Given the description of an element on the screen output the (x, y) to click on. 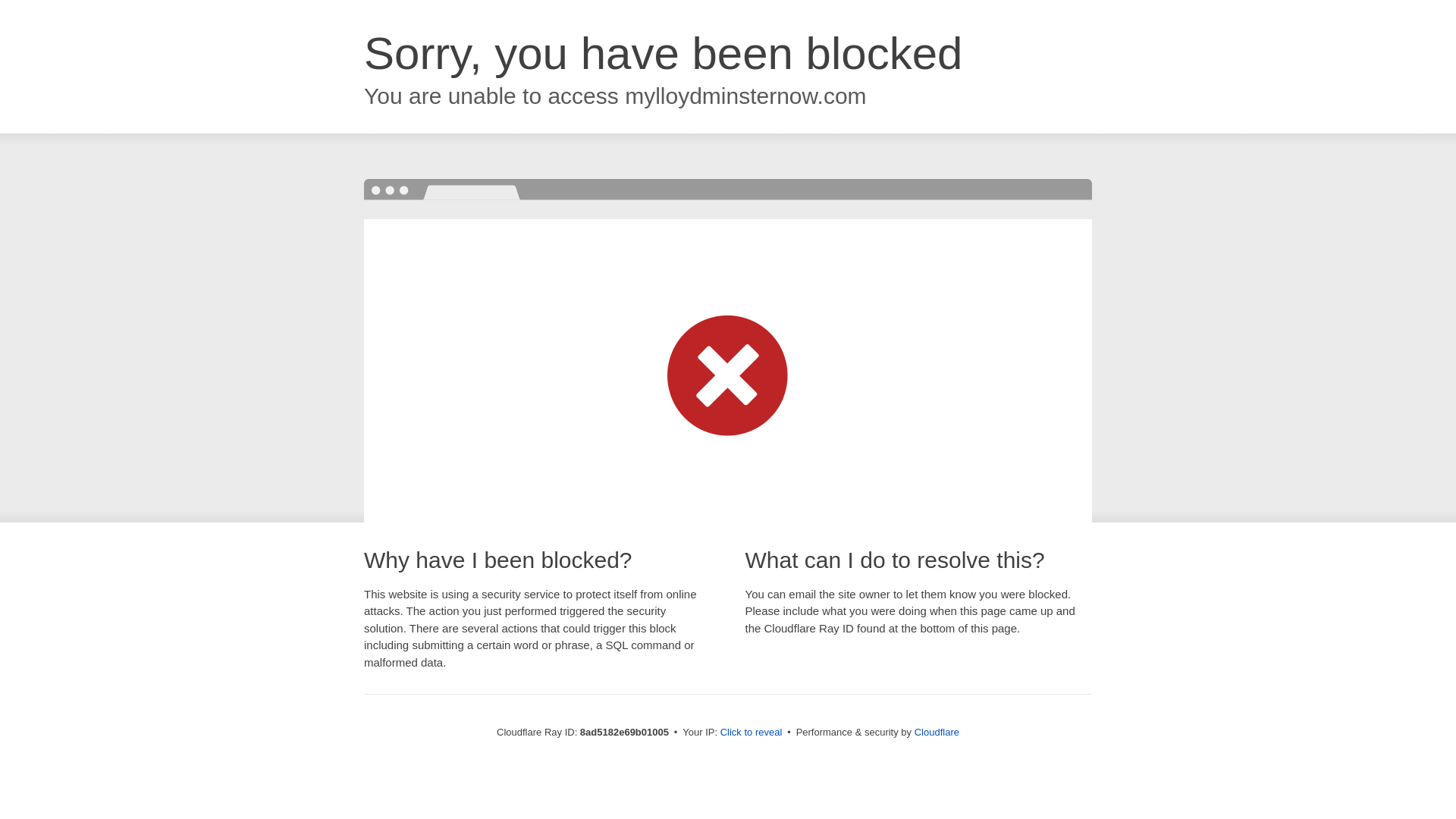
Click to reveal (751, 732)
Cloudflare (936, 731)
